Given the description of an element on the screen output the (x, y) to click on. 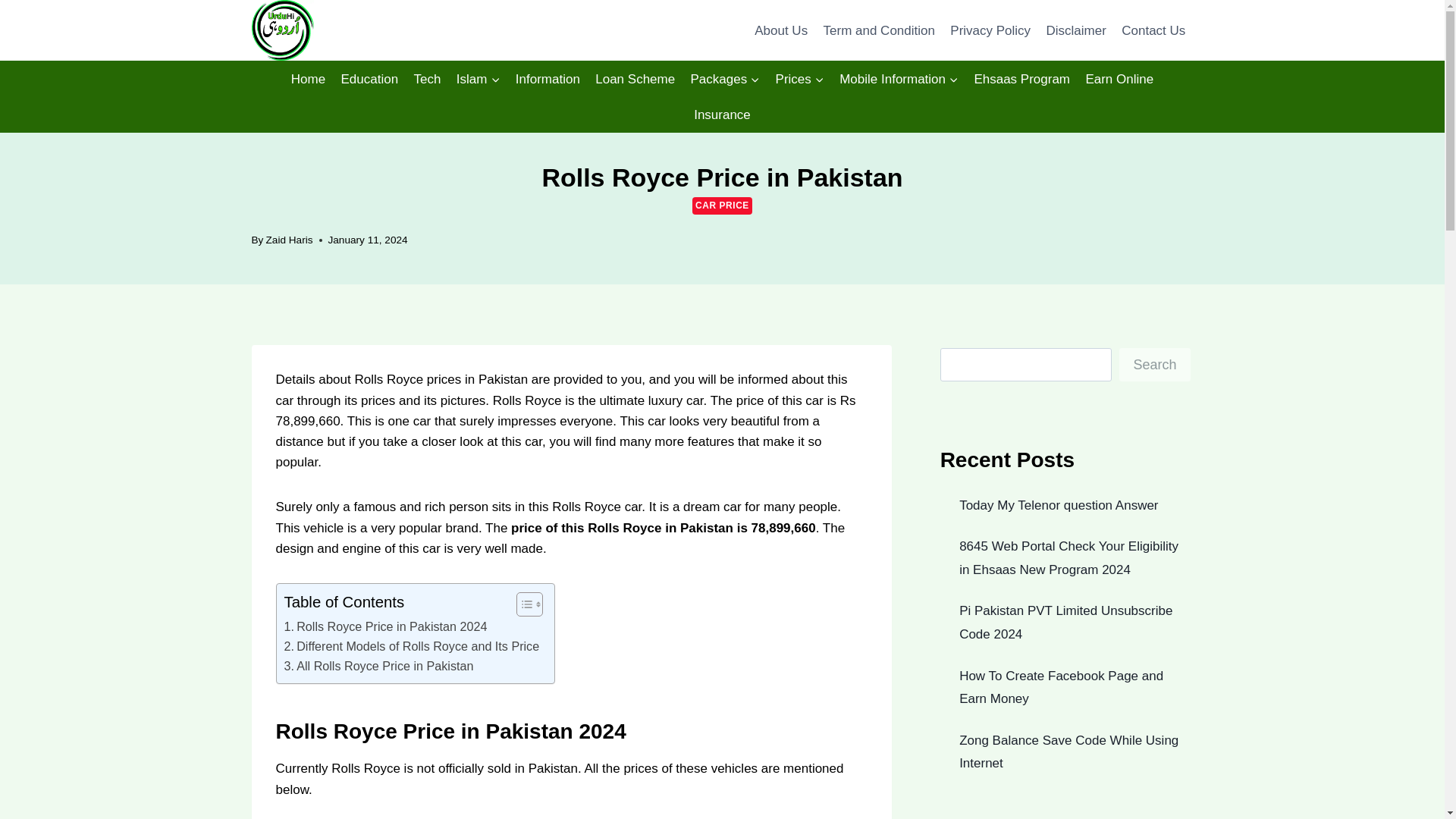
Loan Scheme (635, 78)
Tech (427, 78)
Packages (724, 78)
Different Models of Rolls Royce and Its Price (410, 646)
Privacy Policy (990, 30)
Contact Us (1152, 30)
Education (369, 78)
About Us (780, 30)
Home (308, 78)
Information (548, 78)
Ehsaas Program (1021, 78)
Disclaimer (1075, 30)
Islam (478, 78)
Term and Condition (878, 30)
Rolls Royce Price in Pakistan 2024 (384, 627)
